Given the description of an element on the screen output the (x, y) to click on. 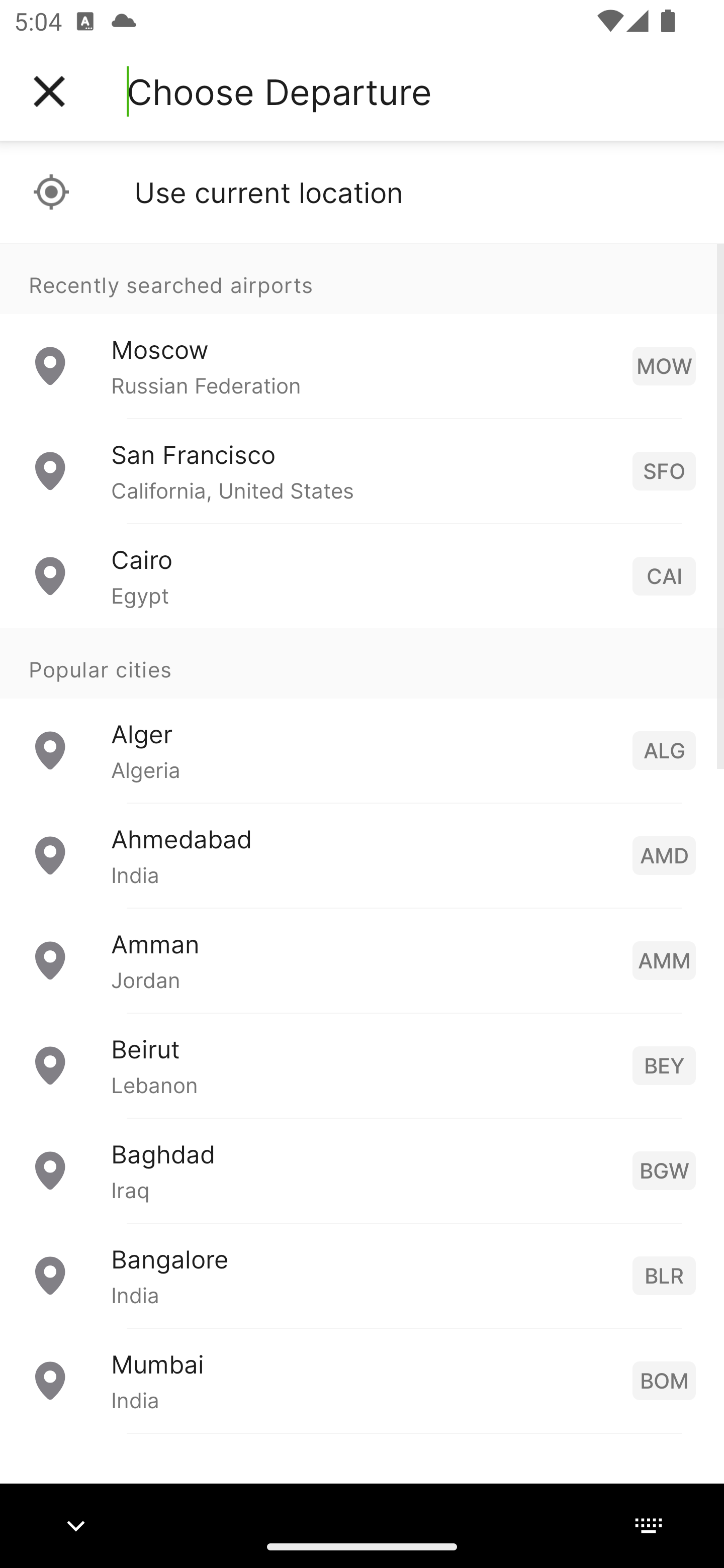
Choose Departure (279, 91)
Use current location (362, 192)
Recently searched airports (362, 278)
San Francisco California, United States SFO (362, 470)
Cairo Egypt CAI (362, 575)
Popular cities Alger Algeria ALG (362, 715)
Popular cities (362, 663)
Ahmedabad India AMD (362, 854)
Amman Jordan AMM (362, 959)
Beirut Lebanon BEY (362, 1064)
Baghdad Iraq BGW (362, 1170)
Bangalore India BLR (362, 1275)
Mumbai India BOM (362, 1380)
